Given the description of an element on the screen output the (x, y) to click on. 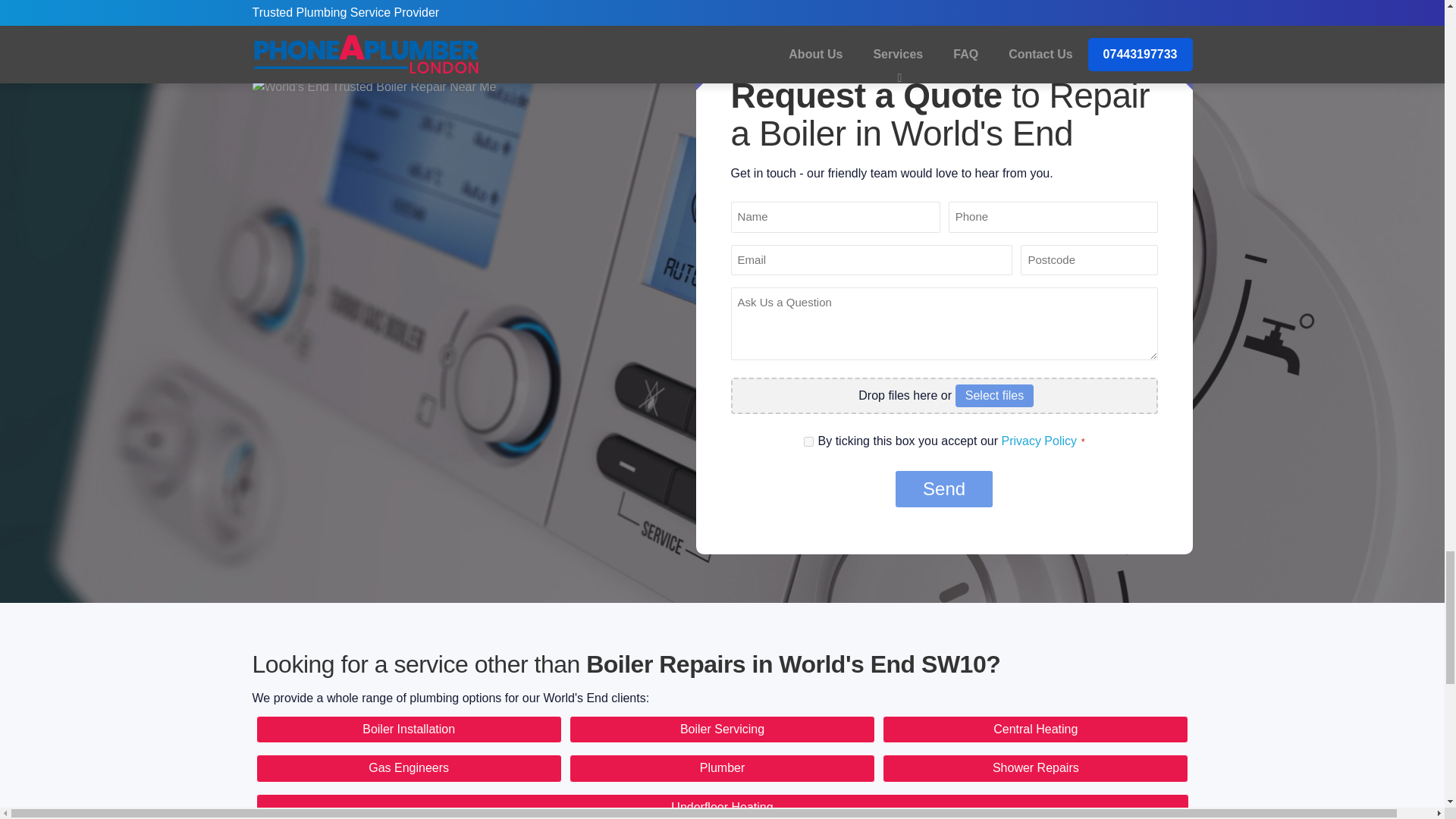
Central Heating (1035, 729)
Send (943, 488)
Boiler Servicing (722, 729)
Send (943, 488)
Select files (994, 395)
Gas Engineers (409, 768)
Boiler Installation (409, 729)
Privacy Policy (1039, 440)
1 (808, 441)
